Given the description of an element on the screen output the (x, y) to click on. 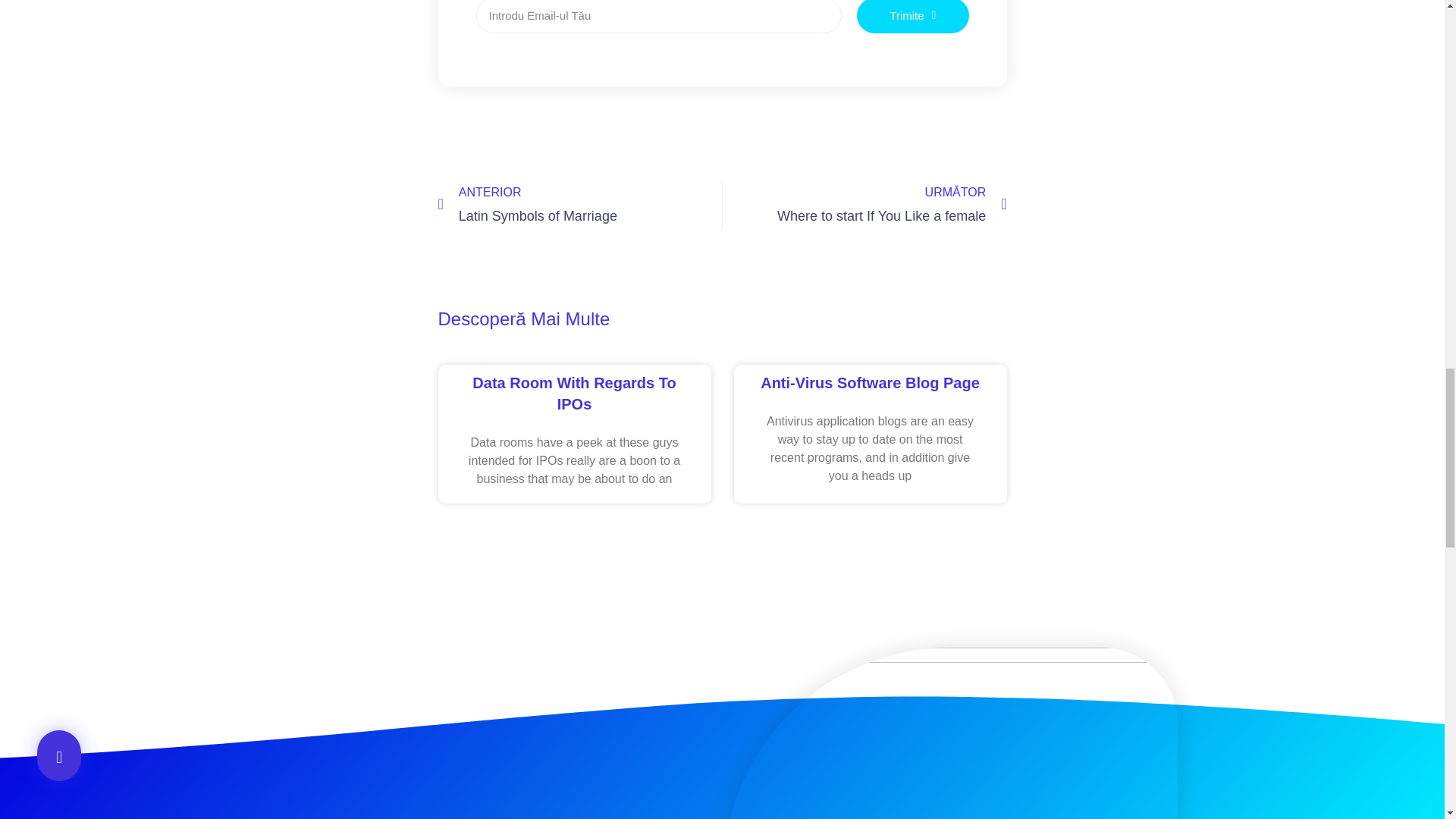
Trimite (913, 16)
Anti-Virus Software Blog Page (869, 382)
Data Room With Regards To IPOs (573, 393)
